Given the description of an element on the screen output the (x, y) to click on. 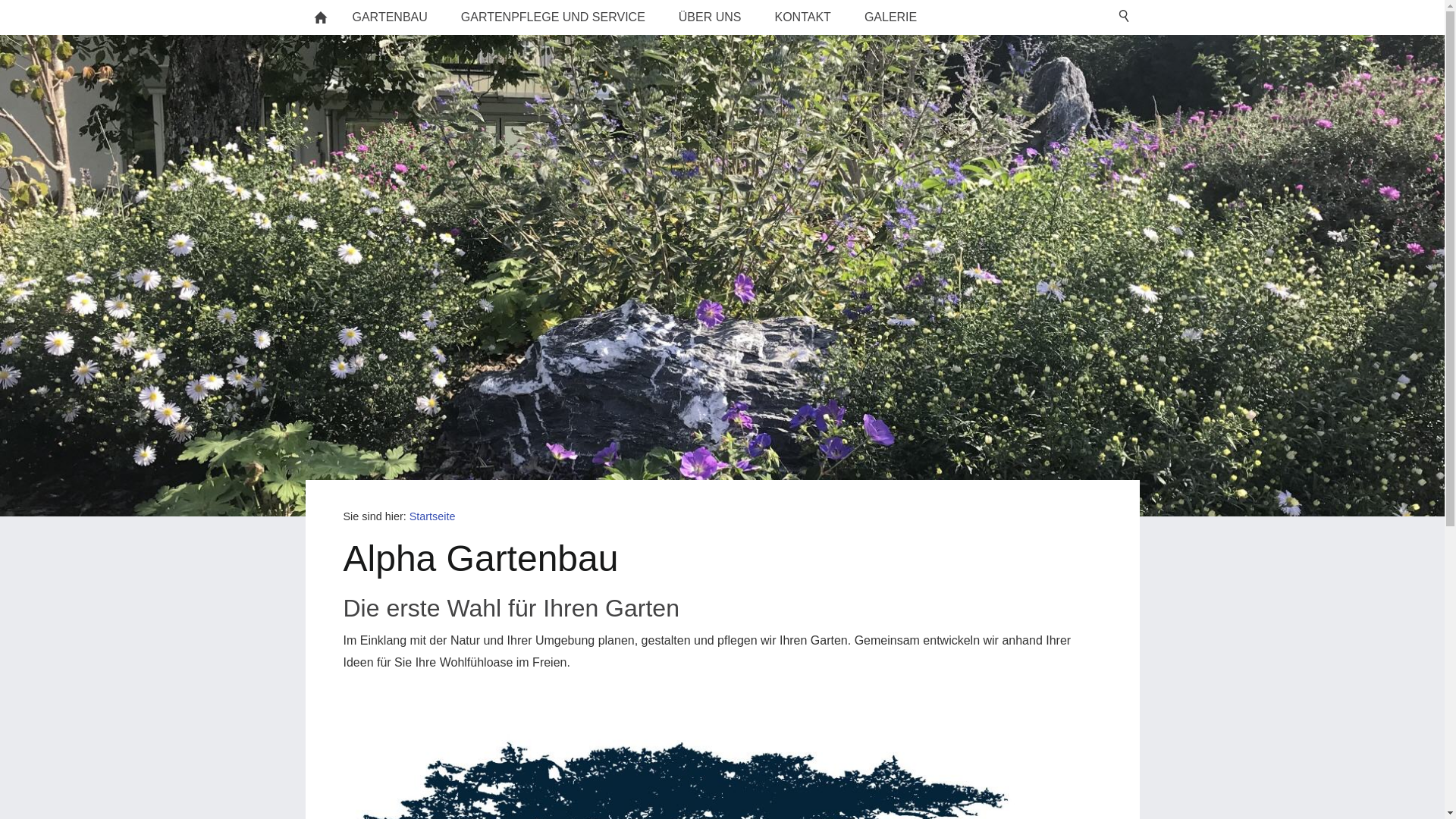
Startseite Element type: text (432, 516)
KONTAKT Element type: text (802, 17)
GALERIE Element type: text (890, 17)
GARTENPFLEGE UND SERVICE Element type: text (553, 17)
GARTENBAU Element type: text (389, 17)
